Given the description of an element on the screen output the (x, y) to click on. 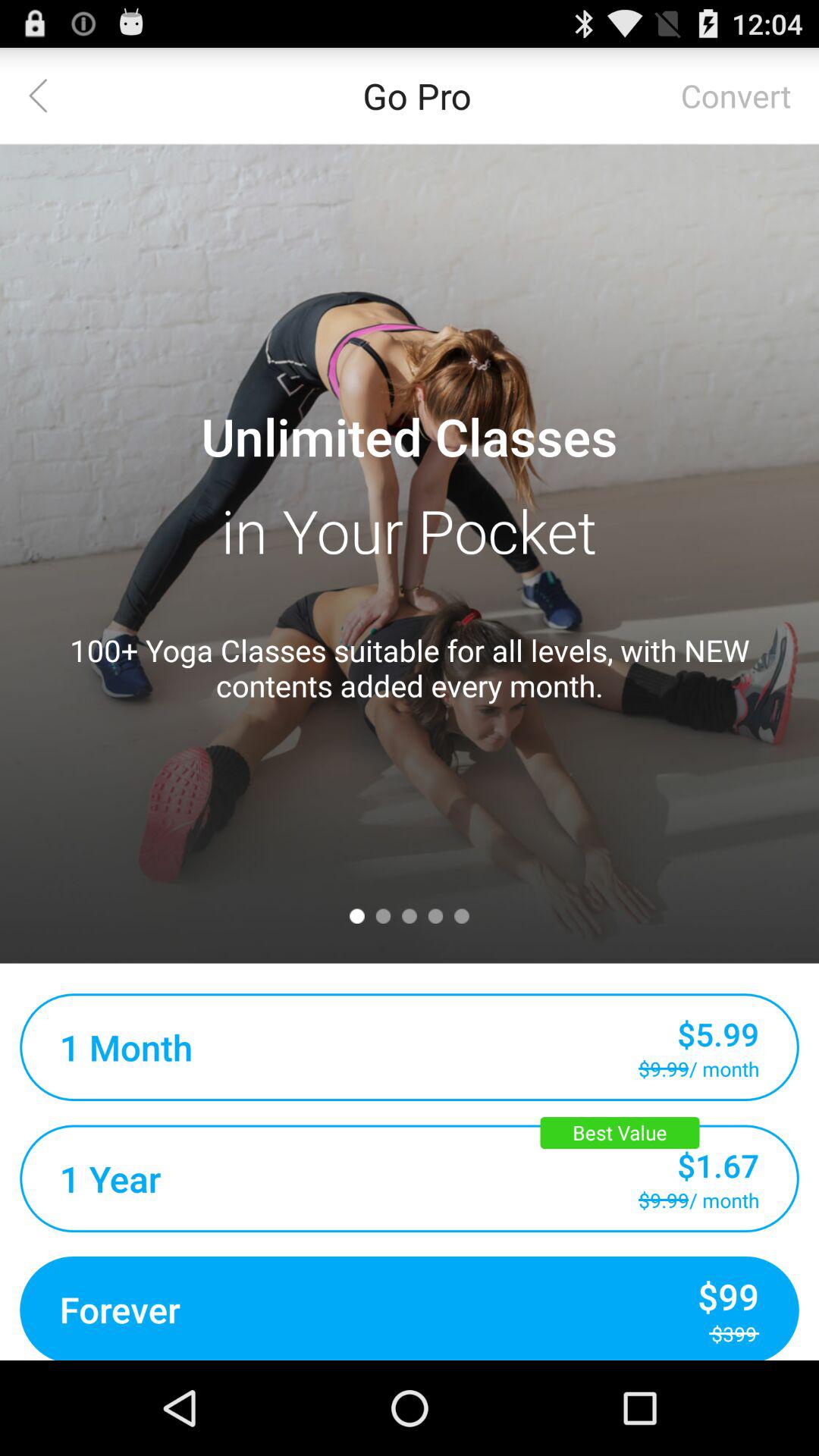
press item at the top left corner (47, 95)
